Given the description of an element on the screen output the (x, y) to click on. 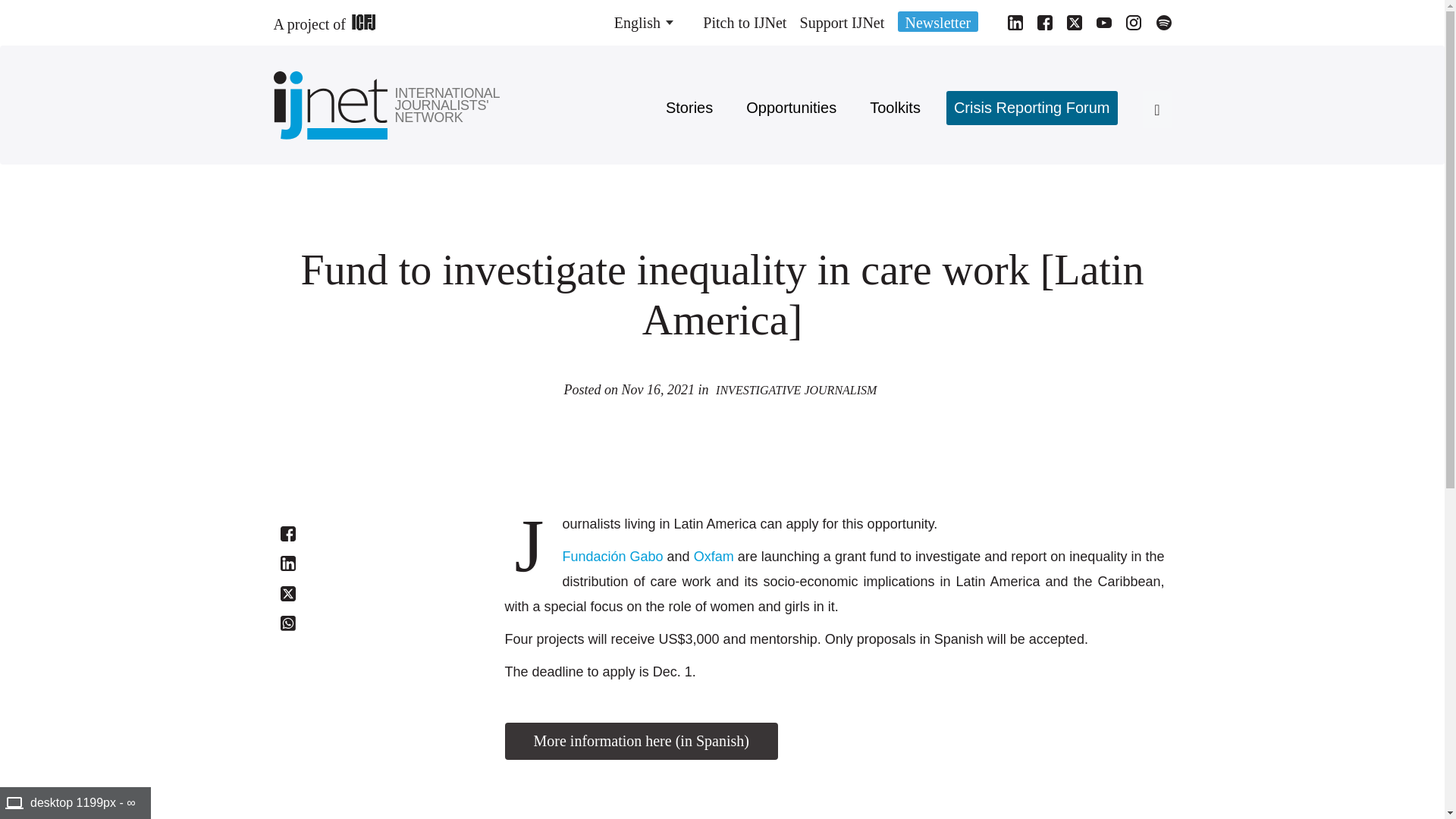
Linkedin (288, 563)
Toolkits (894, 107)
English (637, 22)
Home (448, 104)
Pitch to IJNet (744, 22)
Crisis Reporting Forum (1032, 107)
Support IJNet (842, 22)
Home (333, 105)
Opportunities (791, 107)
Subscribe to the newsletter modal (938, 20)
Twitter (288, 593)
Whatsapp (288, 622)
Toggle Dropdown (642, 22)
Stories (689, 107)
